Given the description of an element on the screen output the (x, y) to click on. 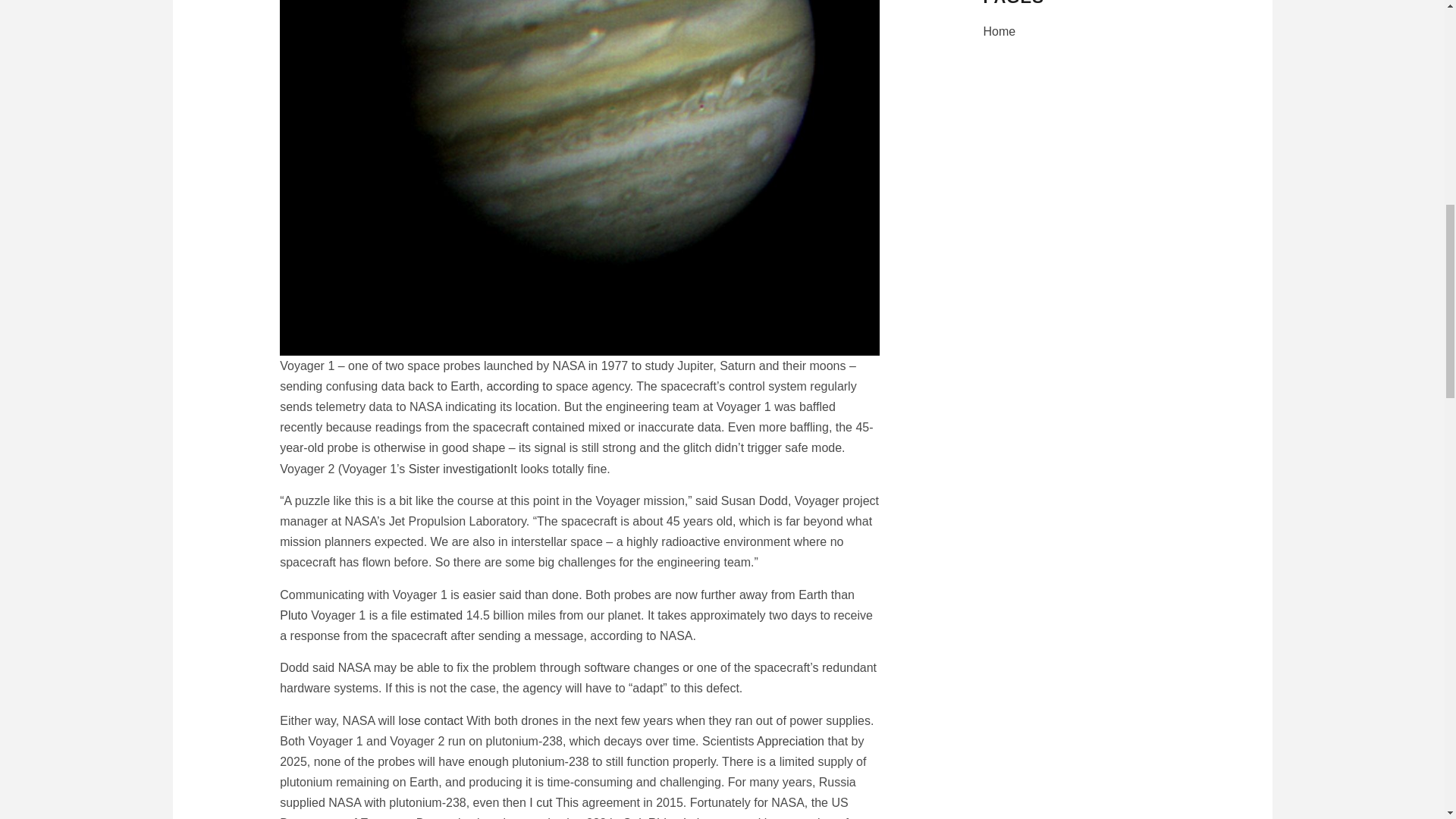
Appreciation (790, 740)
according to (518, 386)
I cut (540, 802)
Sister investigation (460, 468)
estimated (436, 615)
lose contact (430, 720)
Pluto (293, 615)
Oak Ridge Laboratory (682, 817)
